Given the description of an element on the screen output the (x, y) to click on. 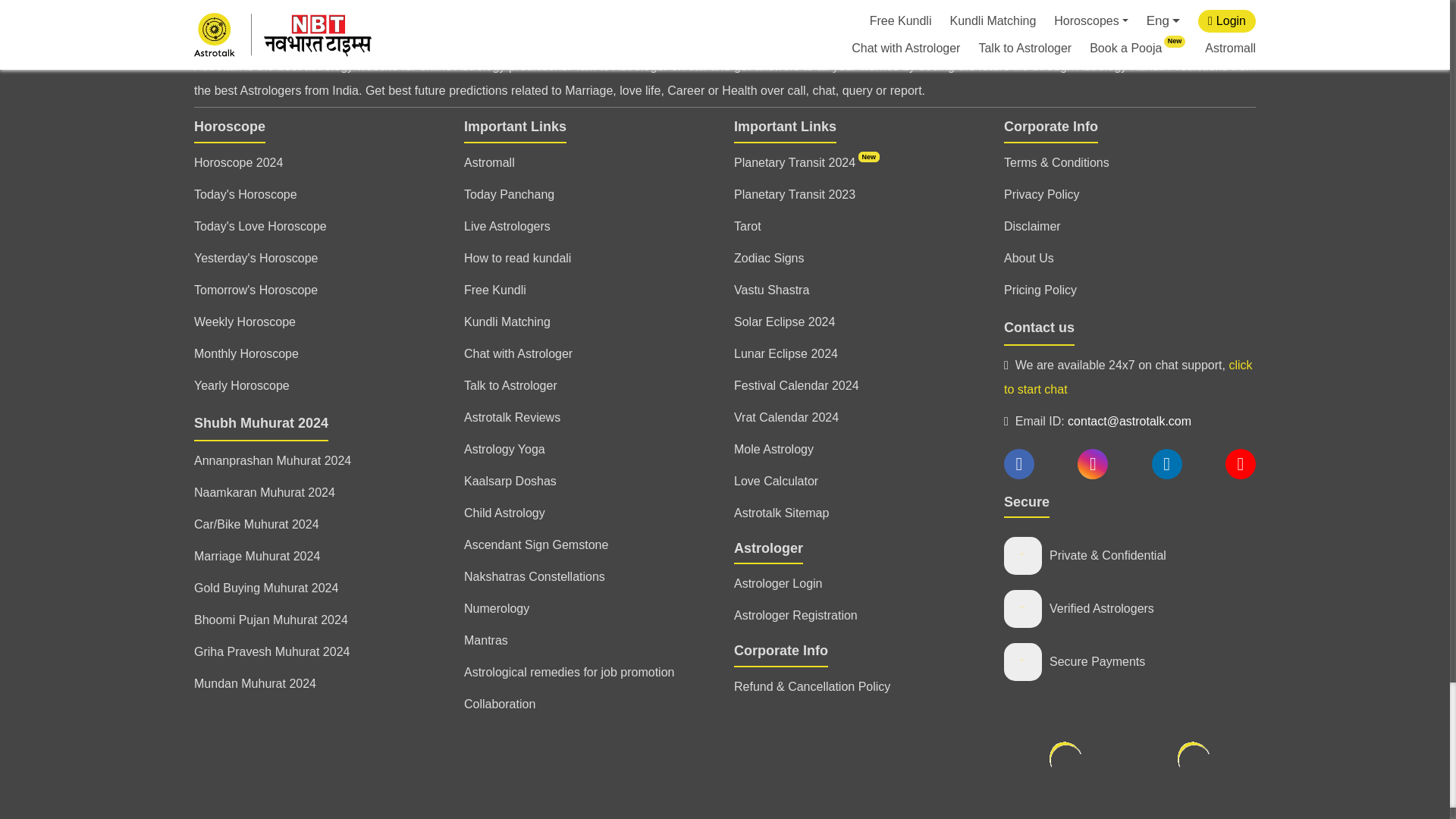
Astrotalk-Facebook (1019, 464)
Astrotalk-Youtube (1240, 464)
Astrotalk-Instagram (1092, 464)
Astrotalk-LinkedIn (1166, 464)
